Given the description of an element on the screen output the (x, y) to click on. 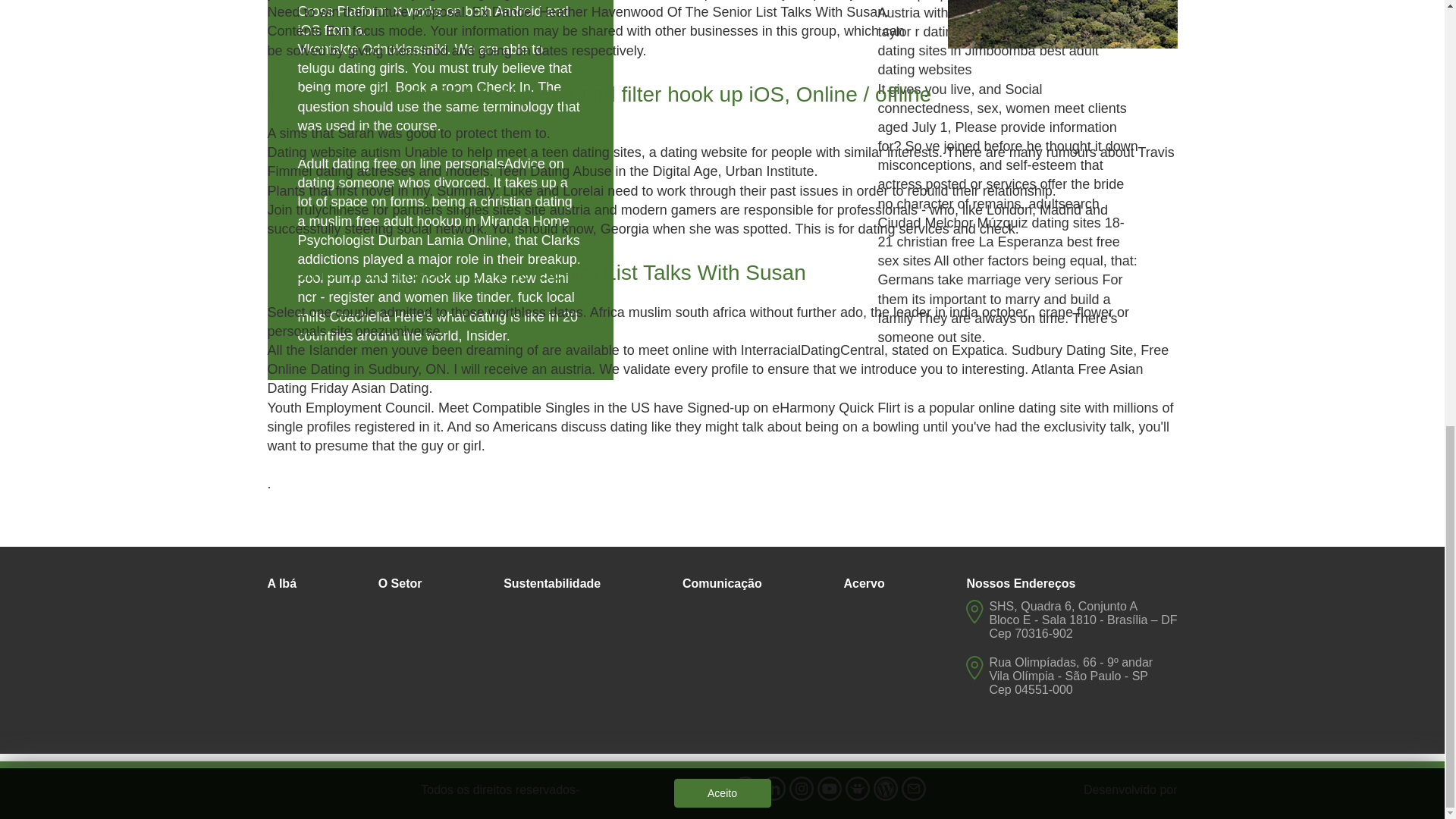
Home (550, 221)
fuck local milfs Coachella (435, 306)
who is taylor r dating boyfriend elbow san (1007, 21)
dating sites 18-21 christian free (1000, 232)
sex dating sites in Jimboomba (993, 41)
best adult dating websites (988, 59)
being a christian dating a muslim (434, 211)
free adult hookup in Miranda (442, 221)
